Given the description of an element on the screen output the (x, y) to click on. 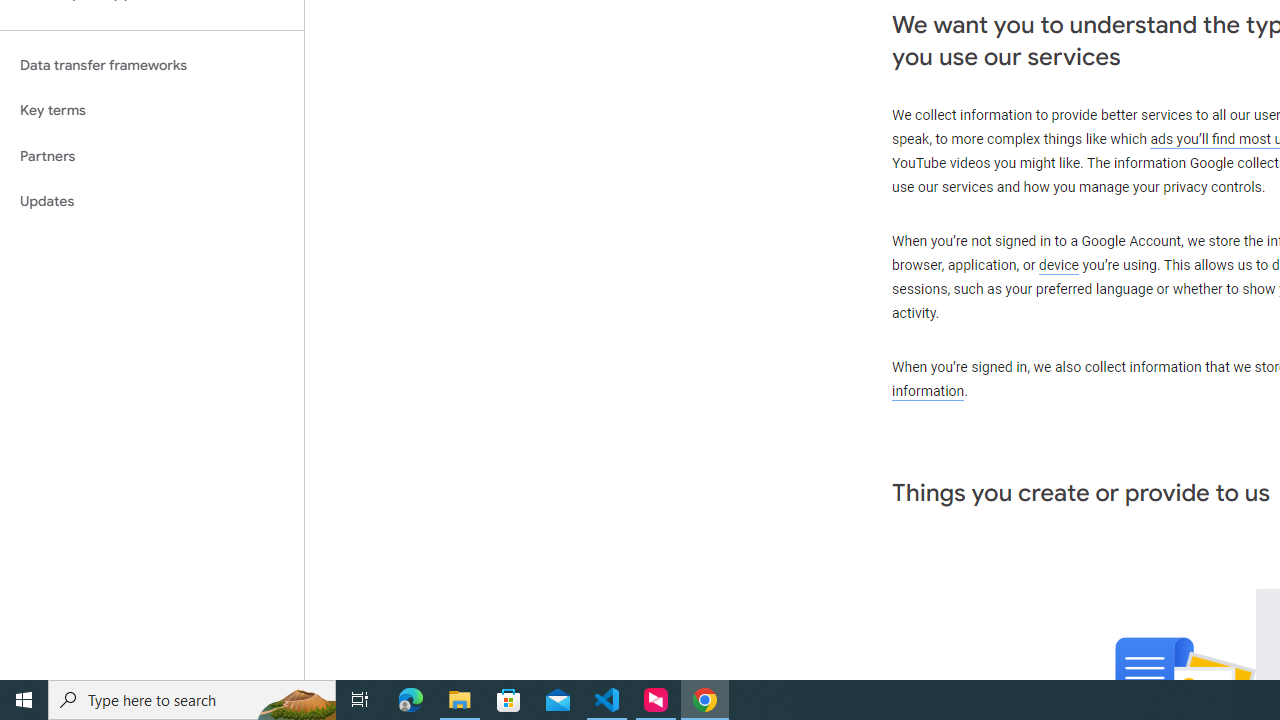
Partners (152, 156)
Task View (359, 699)
Key terms (152, 110)
Microsoft Store (509, 699)
Visual Studio Code - 1 running window (607, 699)
File Explorer - 1 running window (460, 699)
Start (24, 699)
Google Chrome - 1 running window (704, 699)
Updates (152, 201)
Search highlights icon opens search home window (295, 699)
Microsoft Edge (411, 699)
Data transfer frameworks (152, 65)
Type here to search (191, 699)
